Given the description of an element on the screen output the (x, y) to click on. 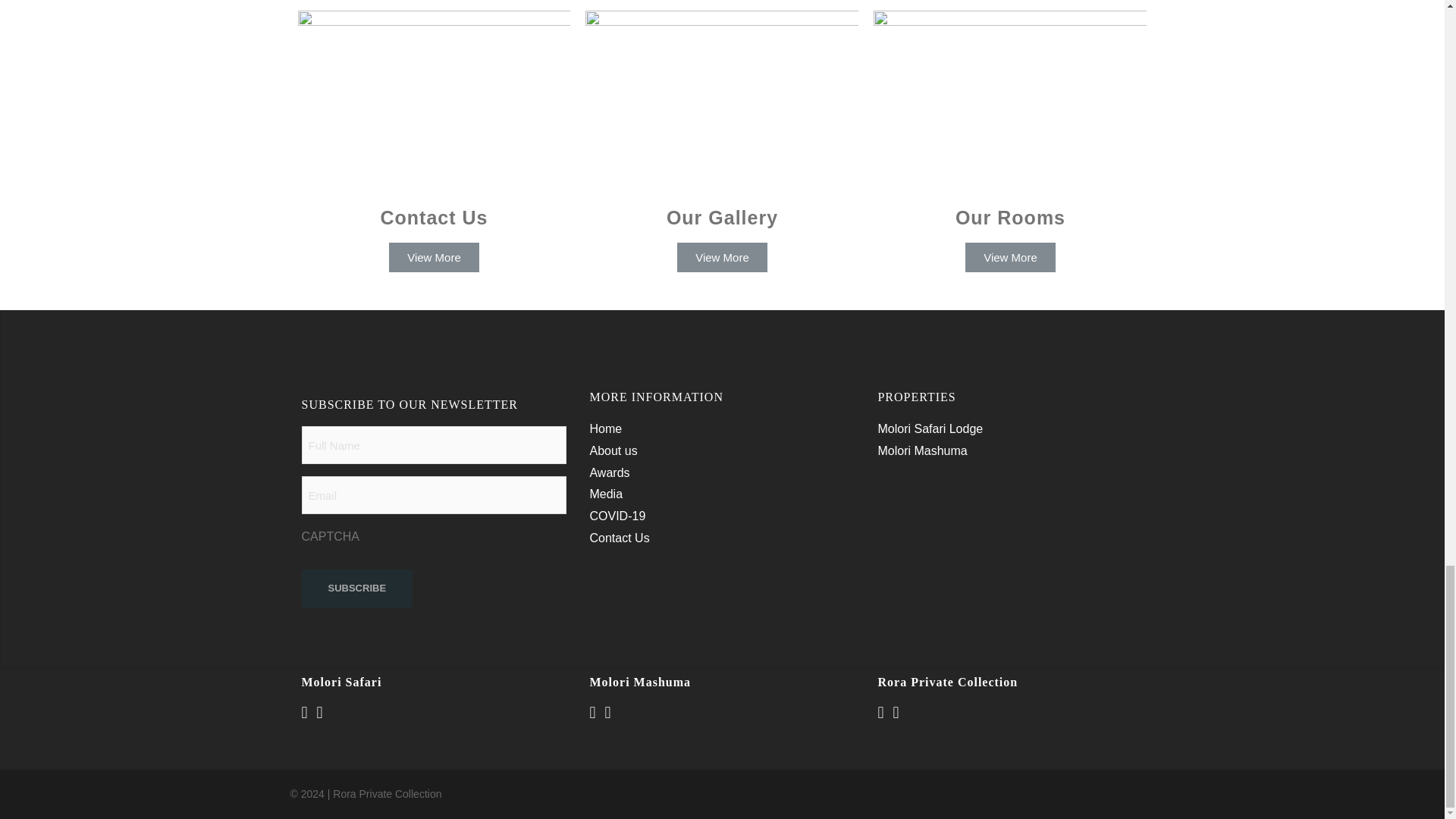
Contact Us (619, 537)
Subscribe (357, 588)
Subscribe (357, 588)
Molori Mashuma (921, 450)
View More (433, 256)
View More (1010, 256)
COVID-19 (617, 515)
Media (606, 493)
View More (722, 256)
Molori Safari Lodge (929, 428)
